Given the description of an element on the screen output the (x, y) to click on. 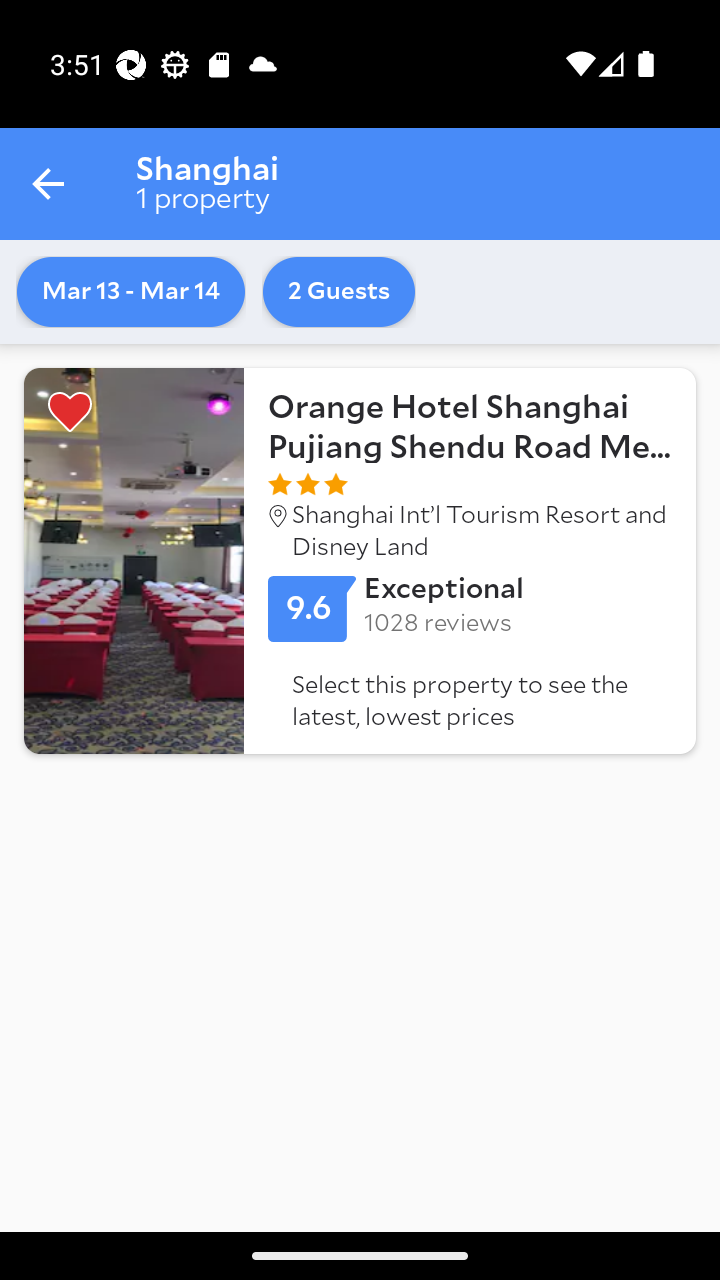
Mar 13 - Mar 14 (130, 291)
2 Guests (339, 291)
